Given the description of an element on the screen output the (x, y) to click on. 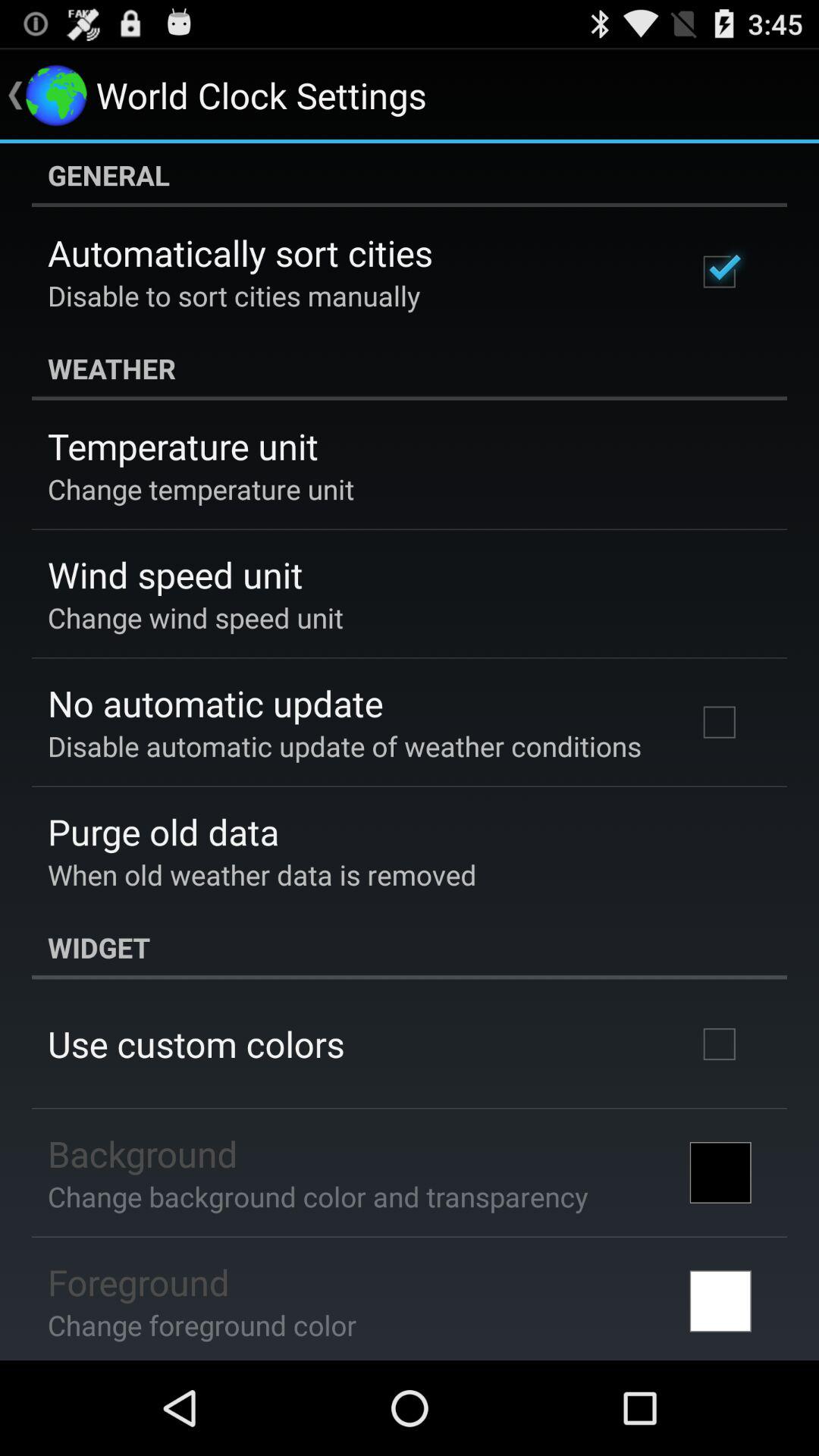
swipe until disable to sort icon (233, 295)
